Given the description of an element on the screen output the (x, y) to click on. 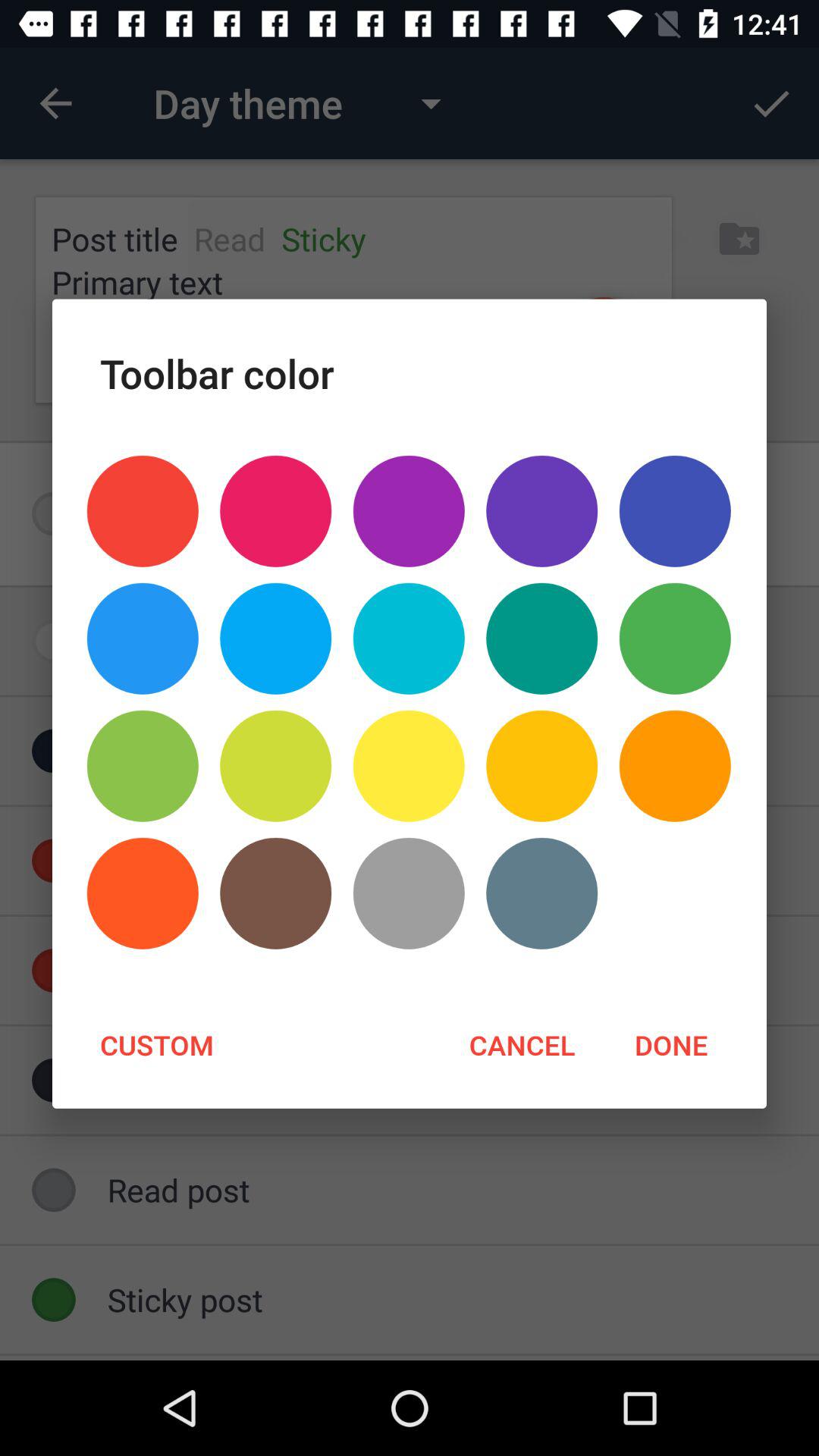
click item to the right of custom (522, 1044)
